Given the description of an element on the screen output the (x, y) to click on. 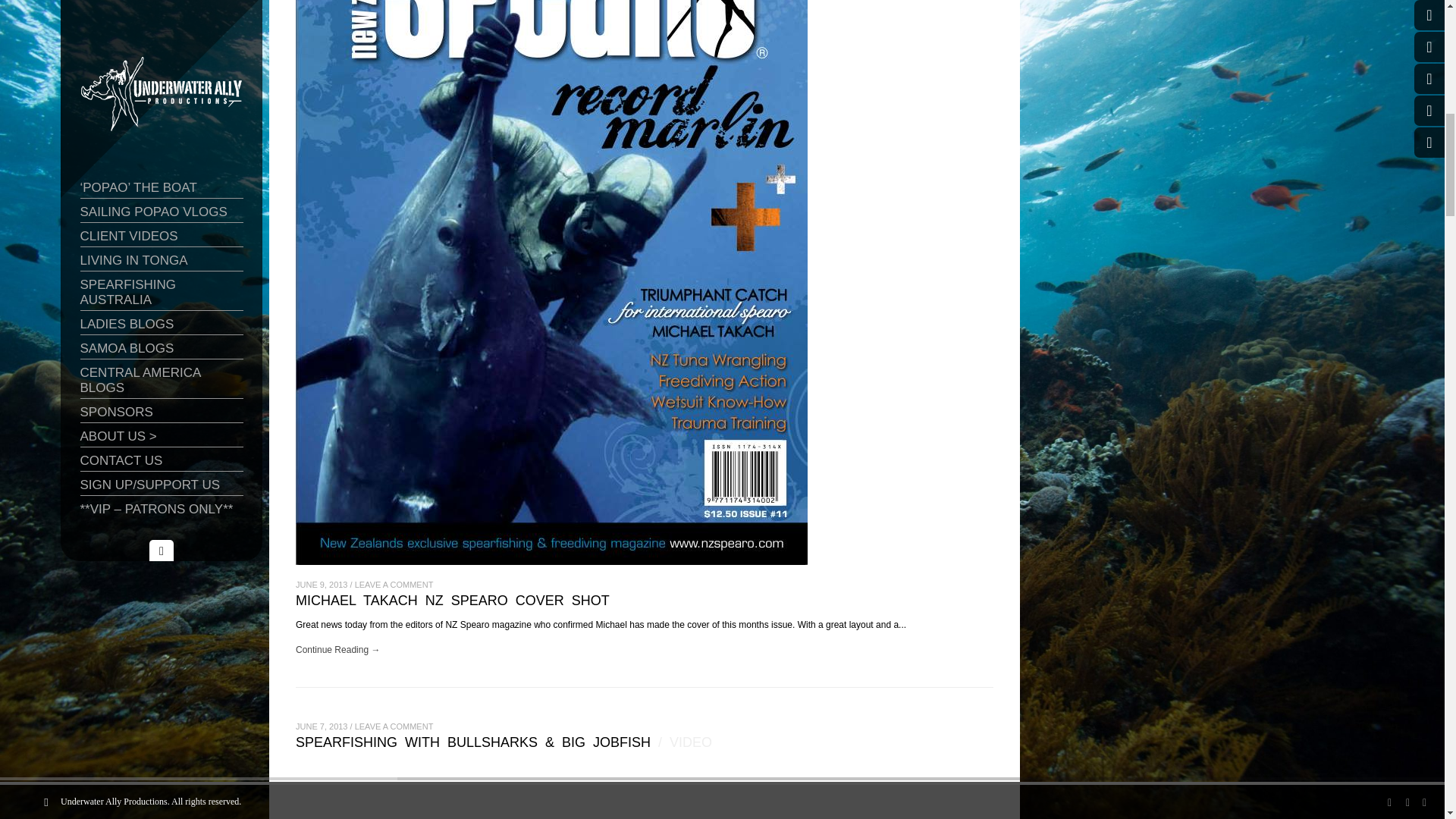
YouTube player (643, 789)
Michael Takach NZ Spearo Cover Shot (452, 603)
